Given the description of an element on the screen output the (x, y) to click on. 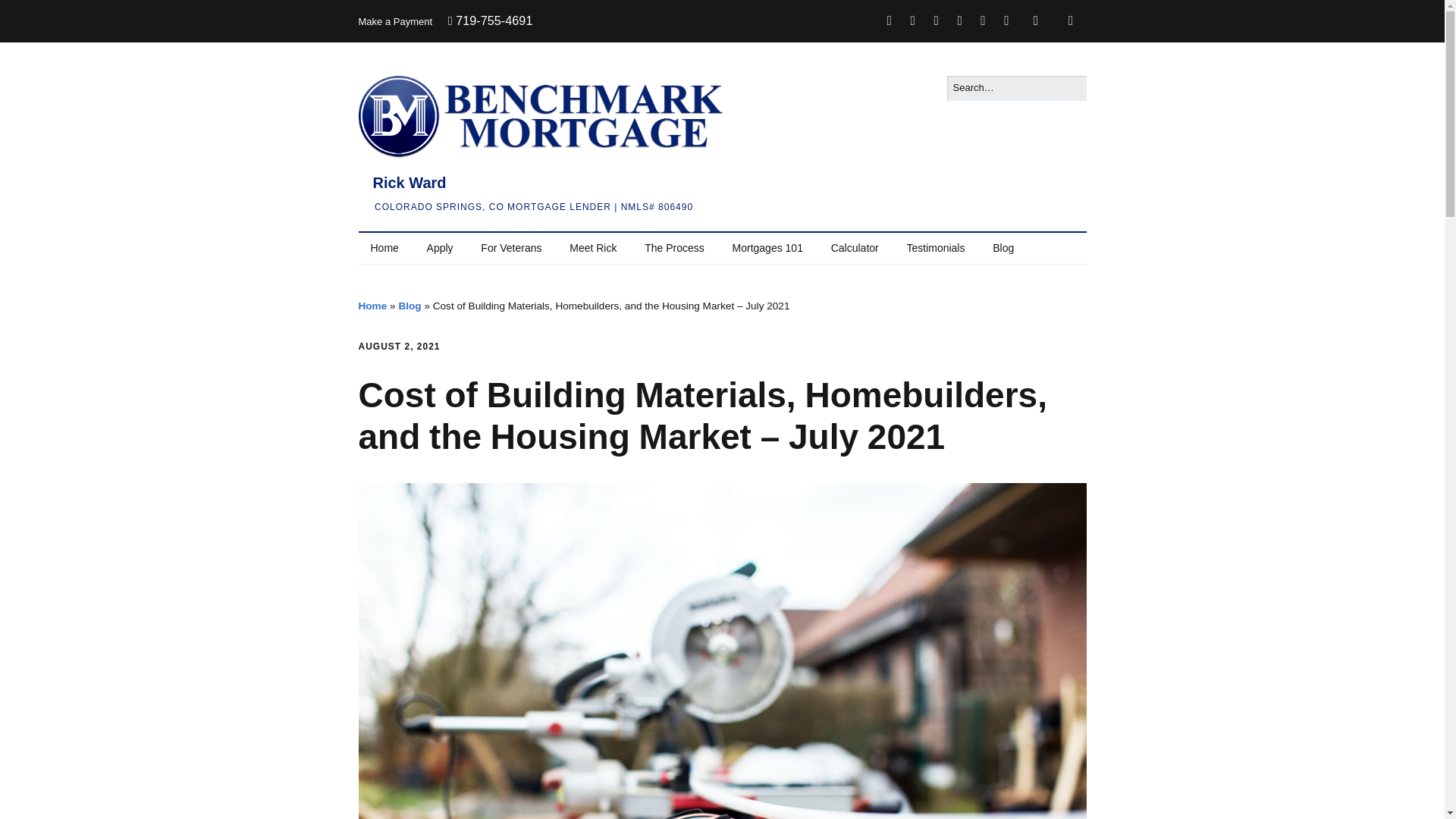
Testimonials (934, 248)
Meet Rick (592, 248)
Press Enter to submit your search (1016, 88)
Calculator (854, 248)
Search (29, 15)
Mortgages 101 (767, 248)
Apply (439, 248)
Make a Payment (395, 21)
Home (384, 248)
These are the steps to take to get to home-ownership. (673, 248)
For Veterans (510, 248)
Blog (1002, 248)
Home (372, 306)
The Process (673, 248)
Rick Ward (405, 182)
